Given the description of an element on the screen output the (x, y) to click on. 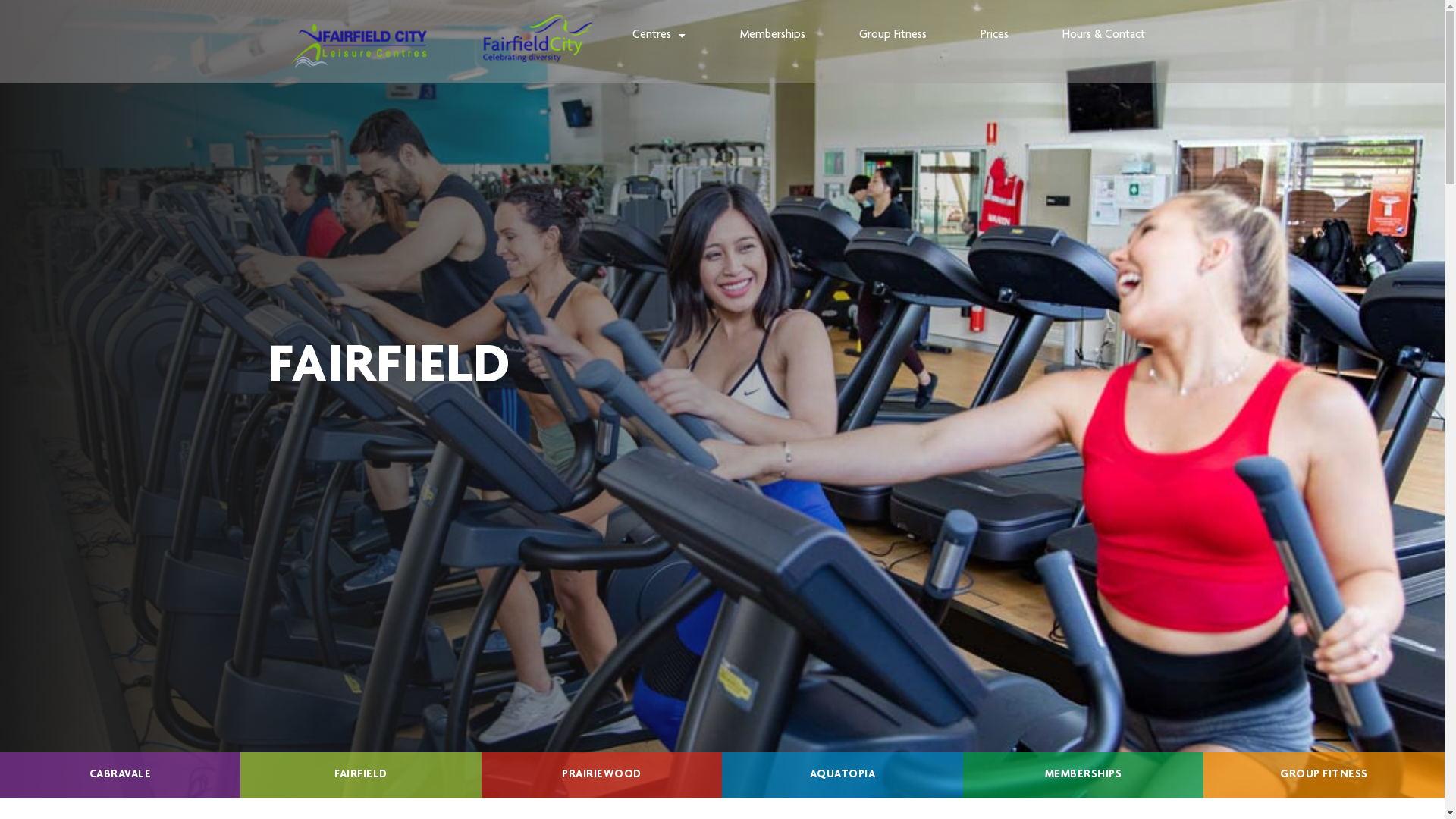
Prices Element type: text (994, 35)
FAIRFIELD Element type: text (360, 774)
Centres Element type: text (659, 35)
Hours & Contact Element type: text (1103, 35)
Group Fitness Element type: text (892, 35)
MEMBERSHIPS Element type: text (1083, 774)
AQUATOPIA Element type: text (841, 774)
CABRAVALE Element type: text (120, 774)
Fairfiled Leisure Centre Element type: hover (440, 41)
PRAIRIEWOOD Element type: text (601, 774)
Memberships Element type: text (772, 35)
GROUP FITNESS Element type: text (1323, 774)
